Given the description of an element on the screen output the (x, y) to click on. 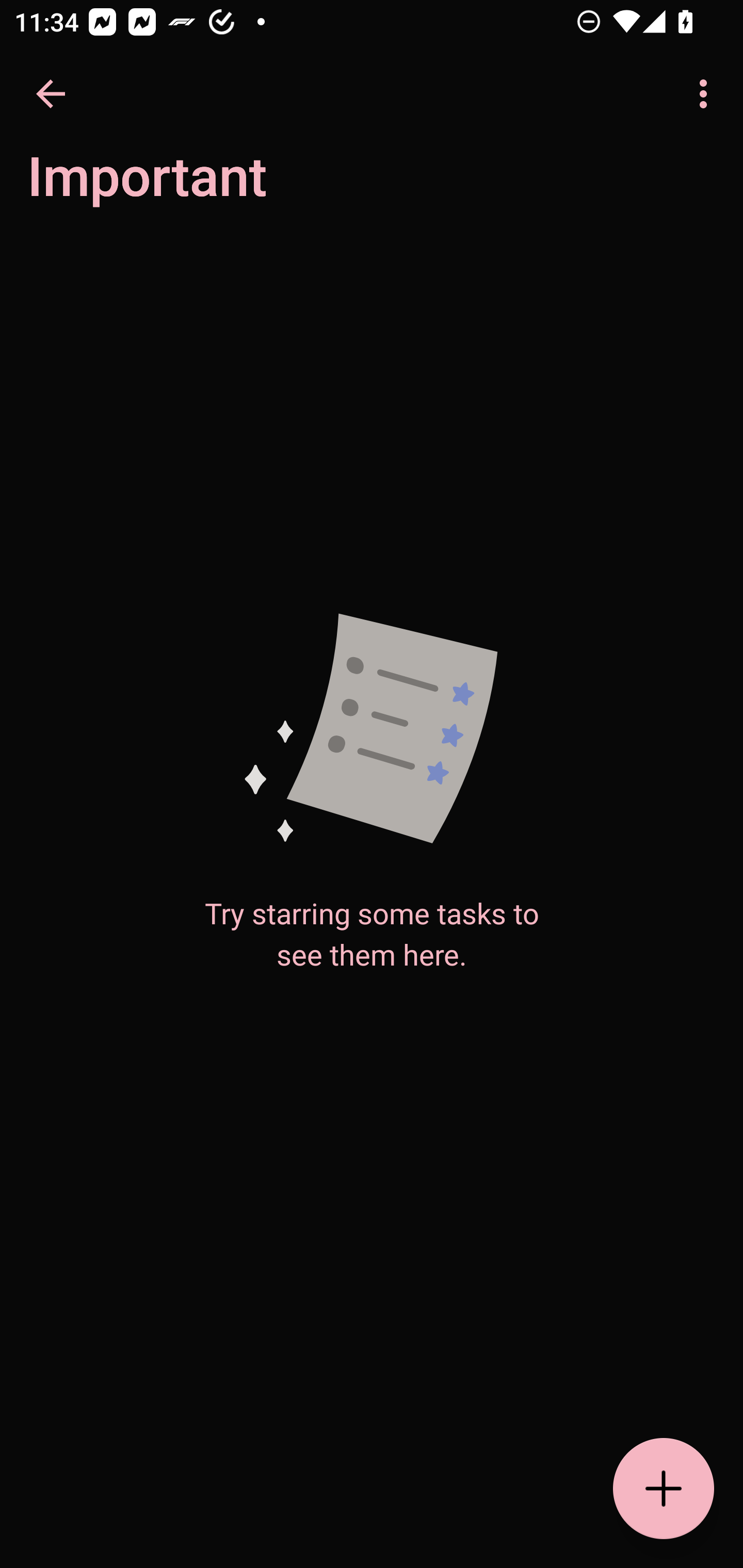
Back (50, 93)
More options (706, 93)
My Day, 0 tasks (182, 187)
Add a task (663, 1488)
